Given the description of an element on the screen output the (x, y) to click on. 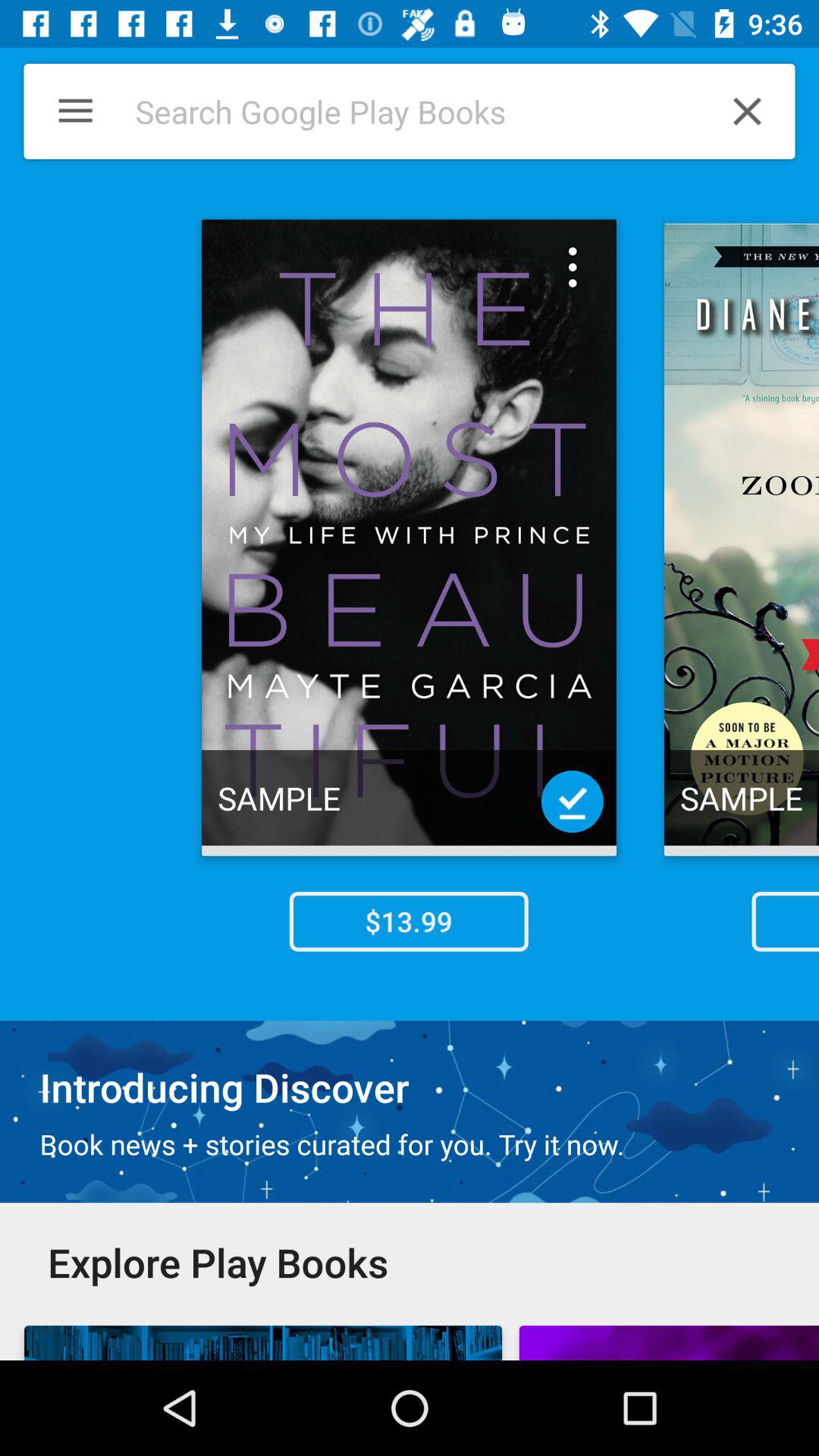
search something (401, 111)
